Given the description of an element on the screen output the (x, y) to click on. 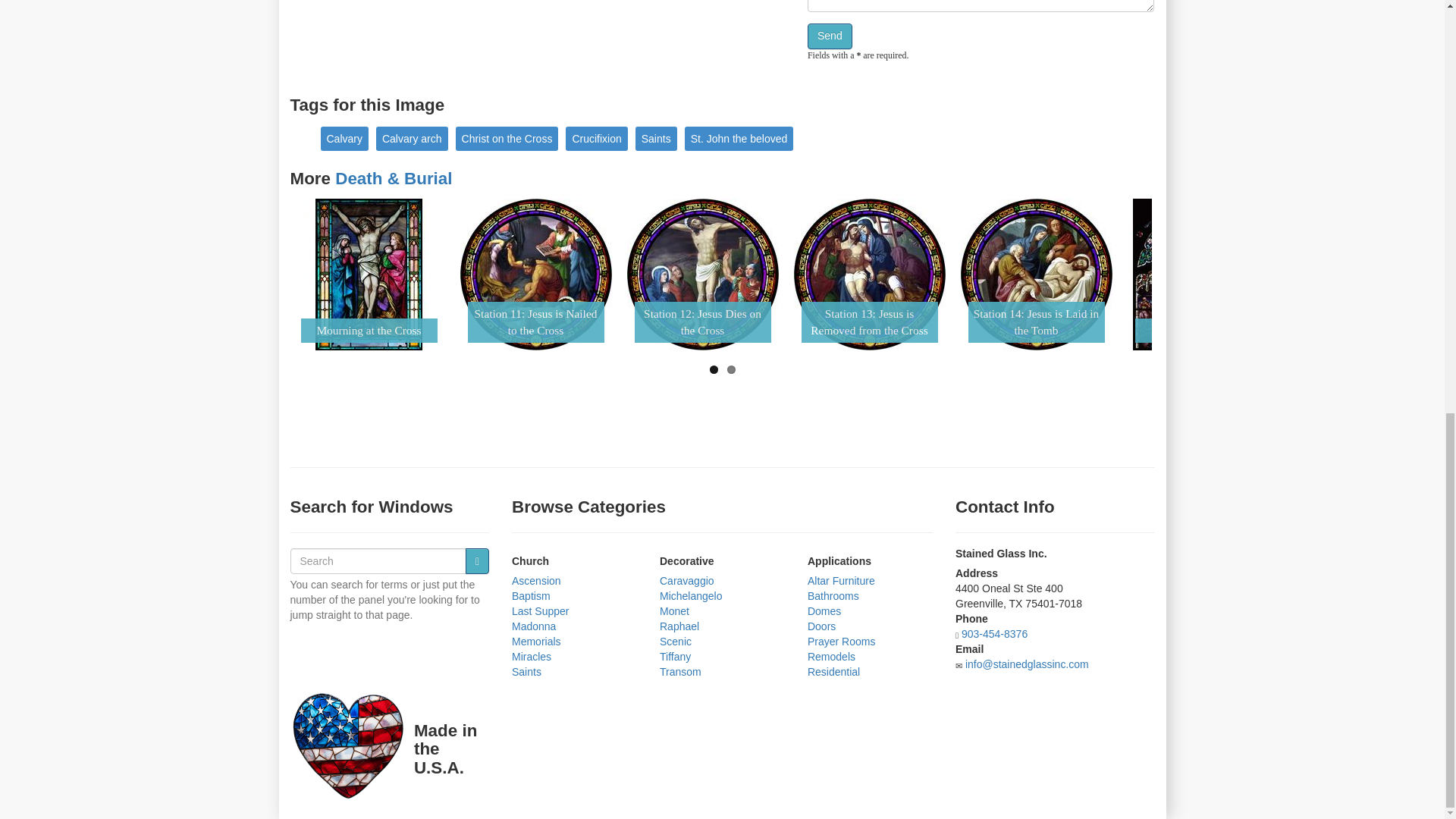
Crucifixion (596, 138)
Station 12: Jesus Dies on the Cross (701, 274)
1 (713, 369)
St. John the beloved (738, 138)
Mourning at the Cross (368, 274)
Christ on the Cross (507, 138)
Calvary (344, 138)
Station 11: Jesus is Nailed to the Cross (535, 274)
Calvary arch (411, 138)
Send (829, 36)
Station 14: Jesus is Laid in the Tomb (1035, 274)
Saints (655, 138)
The Crucifixion (1202, 274)
2 (730, 369)
Station 13: Jesus is Removed from the Cross (868, 274)
